Given the description of an element on the screen output the (x, y) to click on. 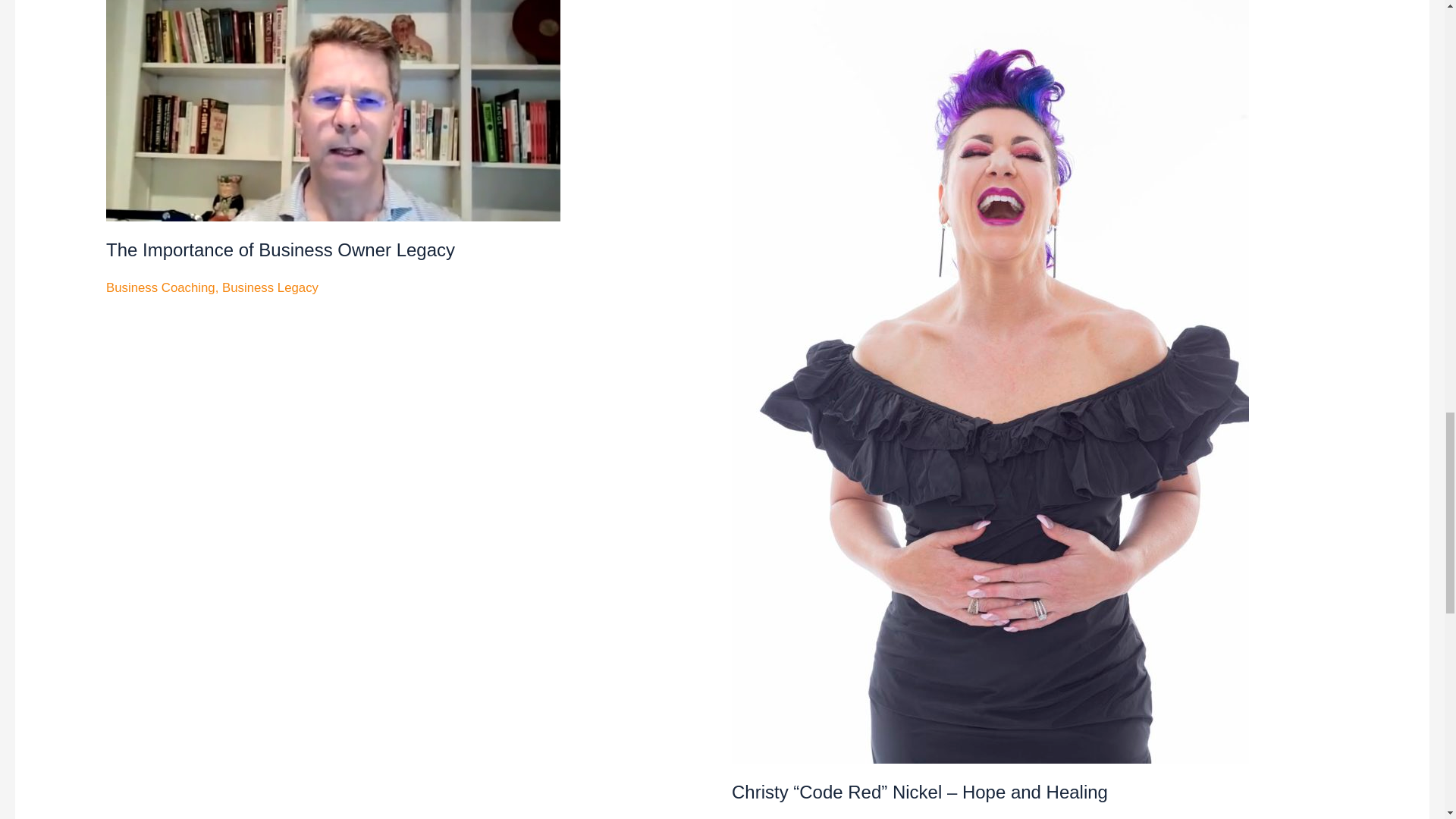
The Importance of Business Owner Legacy (280, 249)
Business Coaching (160, 287)
Business Legacy (270, 287)
